Given the description of an element on the screen output the (x, y) to click on. 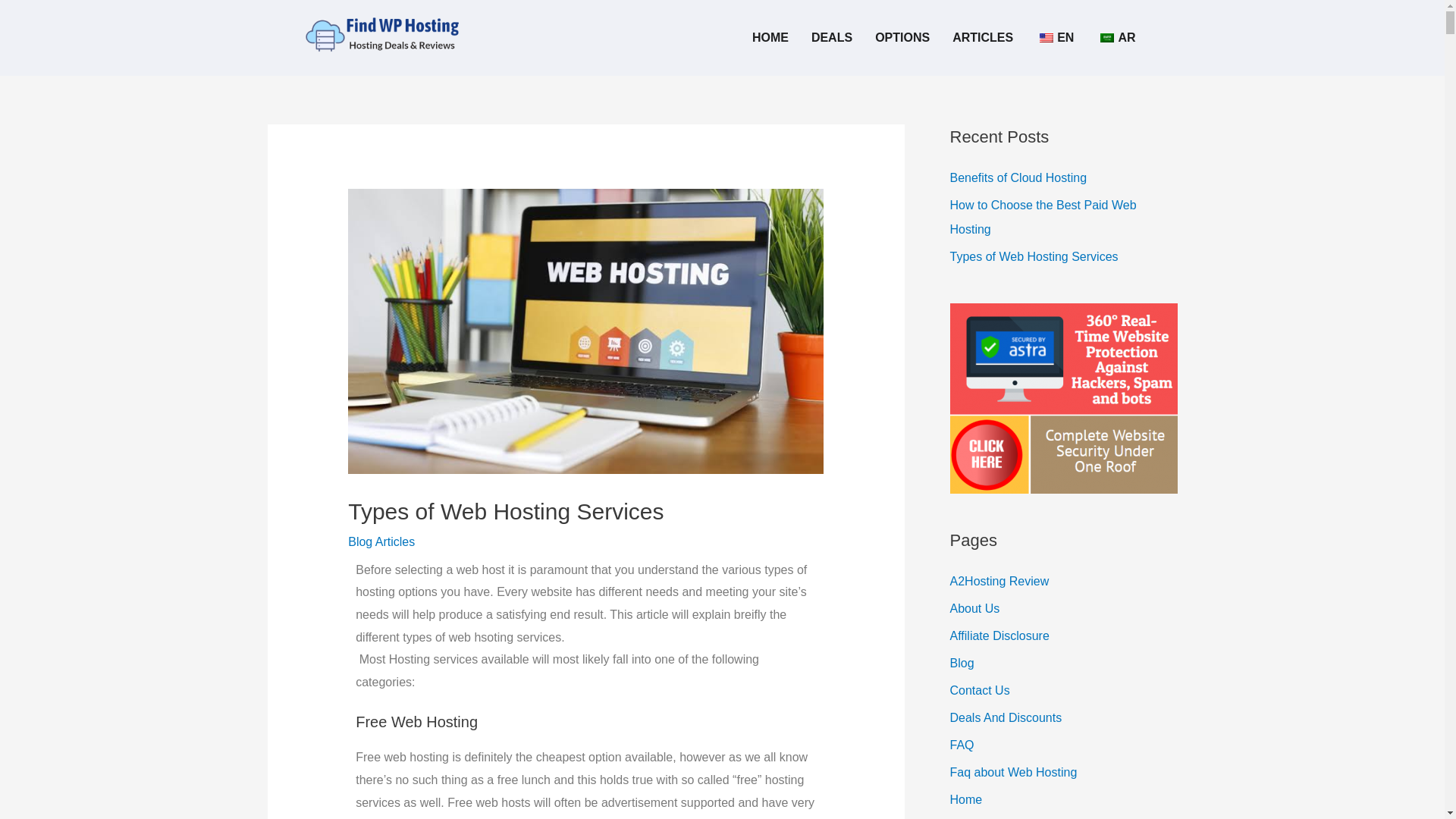
ARTICLES (982, 37)
English (1045, 37)
OPTIONS (901, 37)
DEALS (831, 37)
HOME (770, 37)
EN (1054, 37)
AR (1115, 37)
Blog Articles (380, 541)
